Given the description of an element on the screen output the (x, y) to click on. 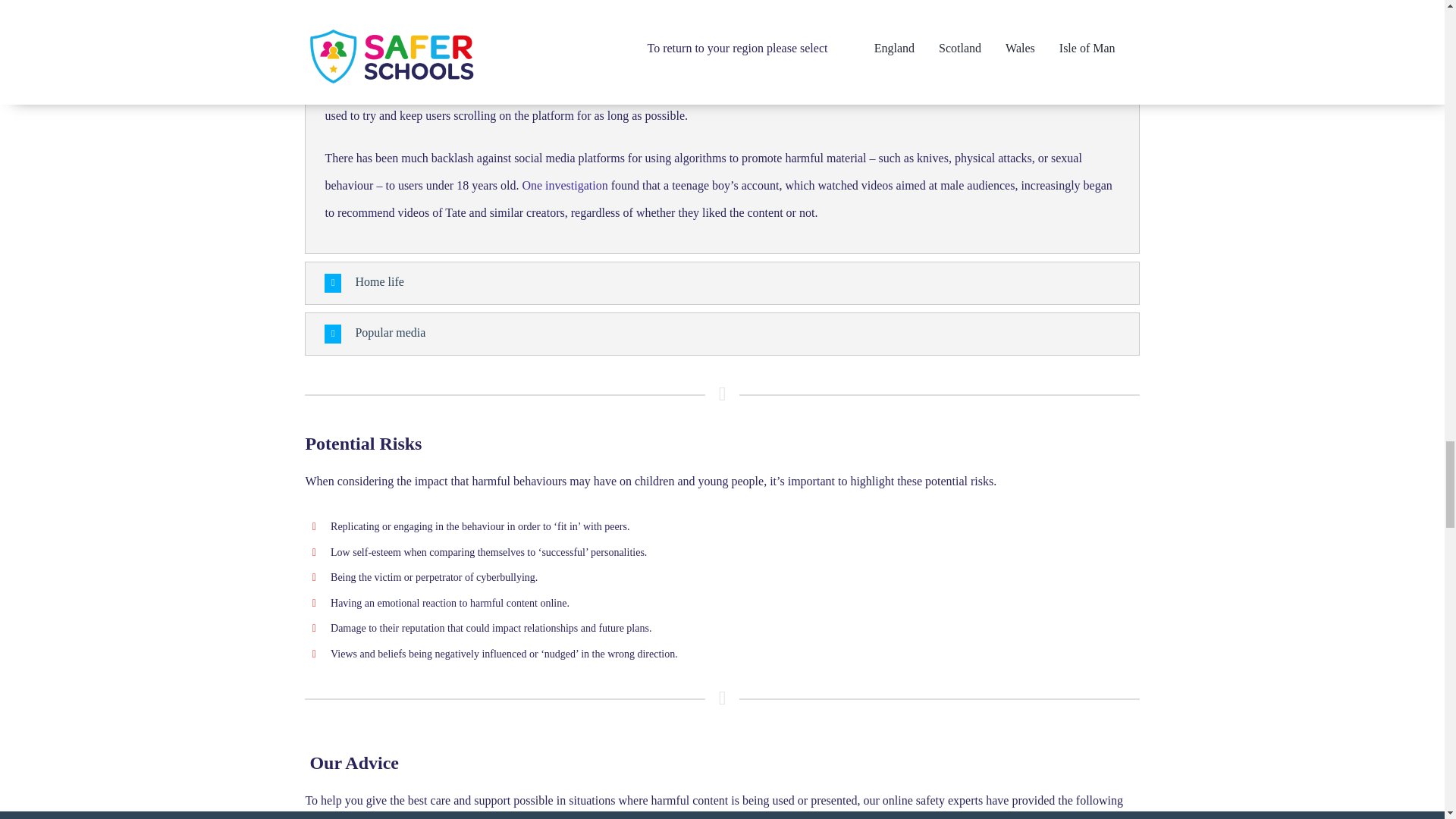
Popular media (721, 333)
One investigation (562, 185)
algorithm (366, 88)
Algorithms (721, 46)
Home life (721, 282)
